Given the description of an element on the screen output the (x, y) to click on. 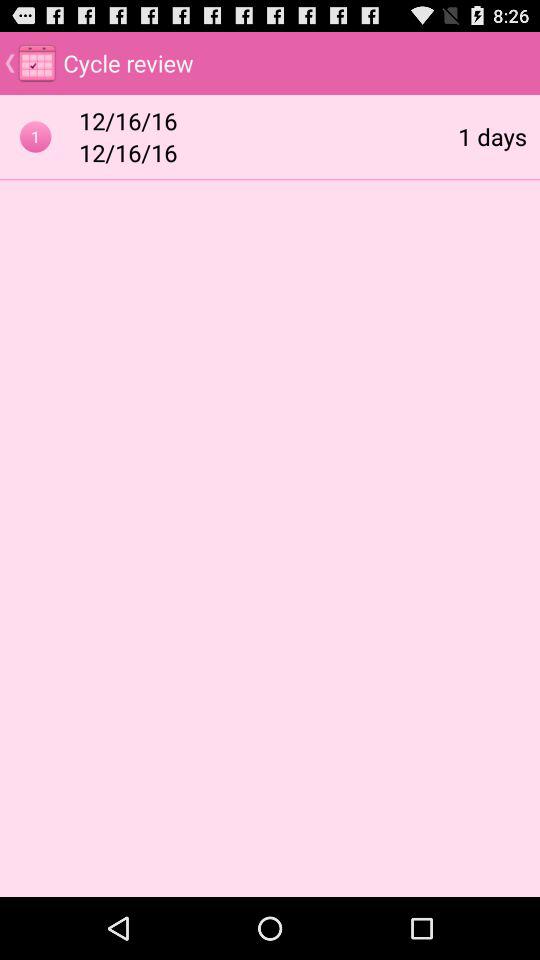
turn on item next to the 12/16/16 icon (492, 136)
